Given the description of an element on the screen output the (x, y) to click on. 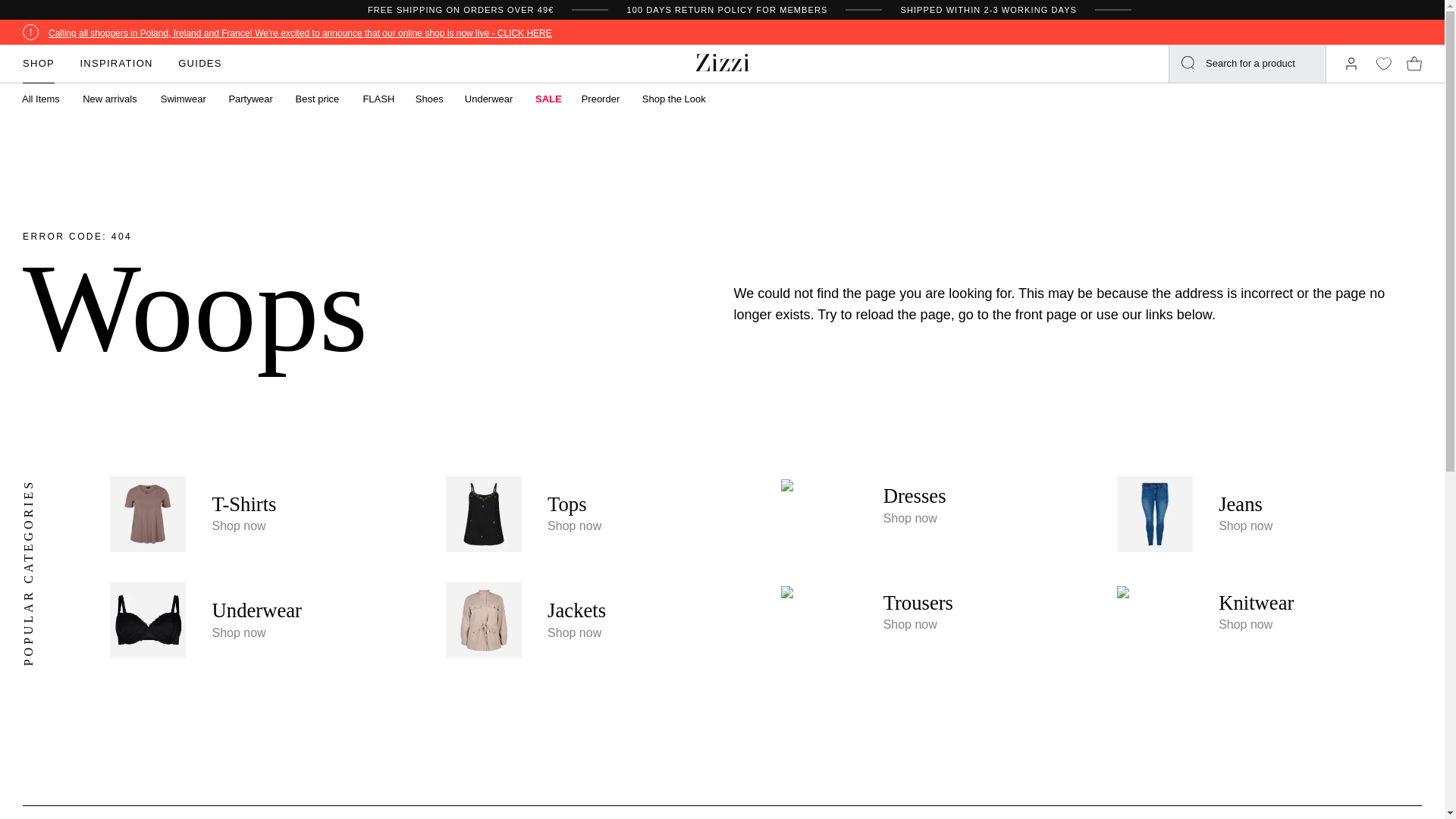
All Items (41, 99)
SHOP (39, 63)
Shop (39, 63)
All Items (41, 99)
